Given the description of an element on the screen output the (x, y) to click on. 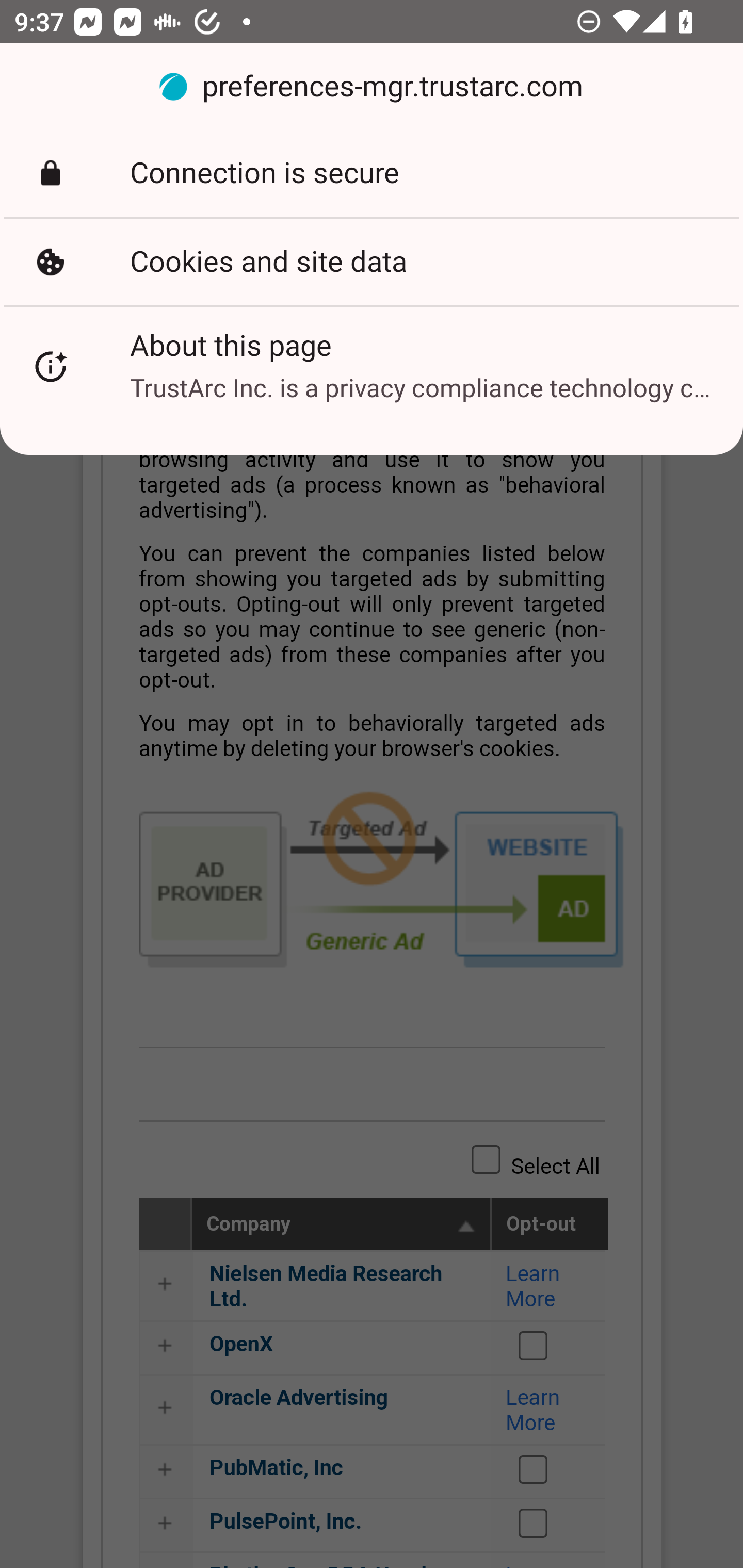
preferences-mgr.trustarc.com (371, 86)
Connection is secure (371, 173)
Cookies and site data (371, 261)
